Given the description of an element on the screen output the (x, y) to click on. 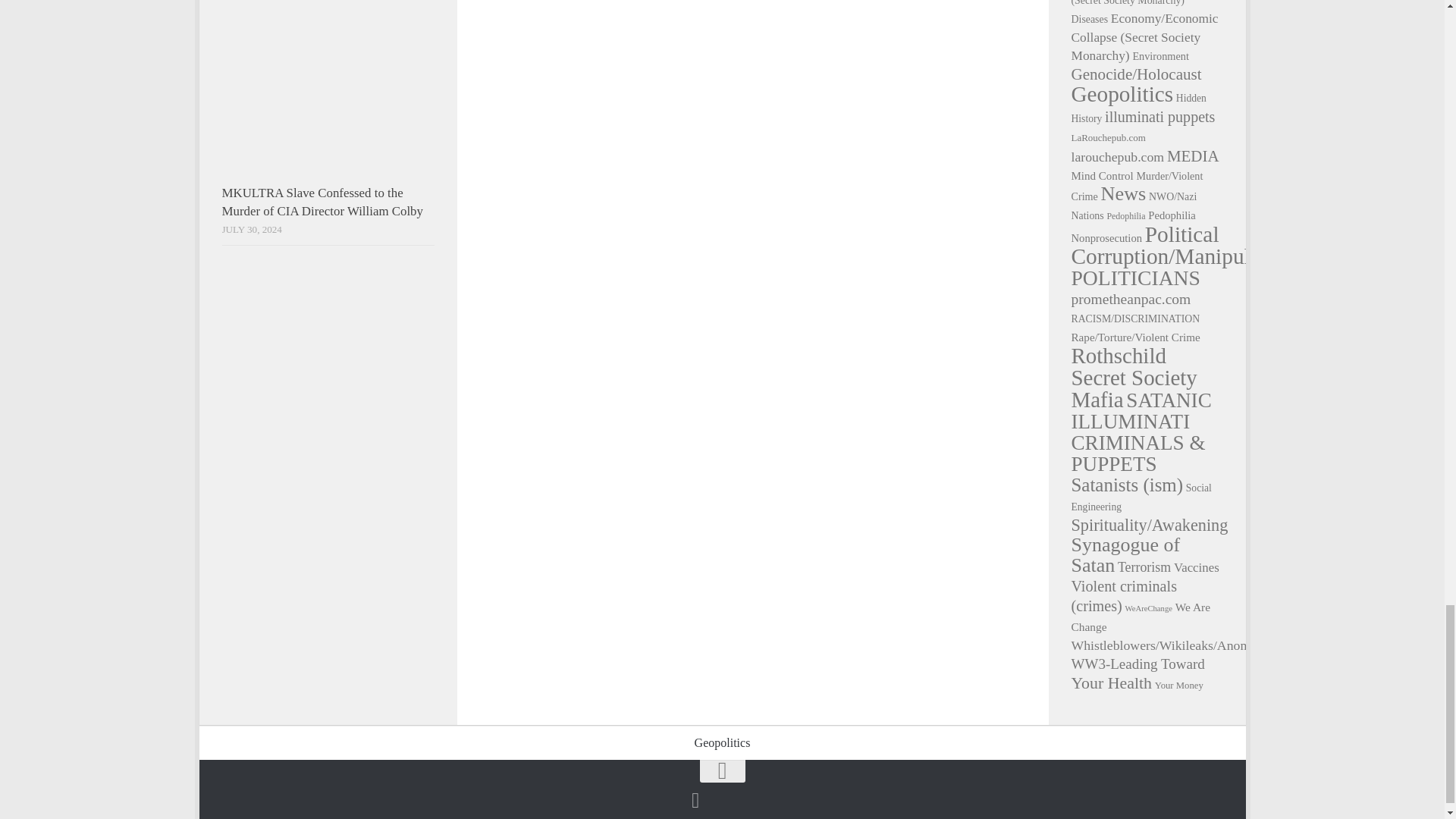
Get the book on Amazon (695, 800)
